Given the description of an element on the screen output the (x, y) to click on. 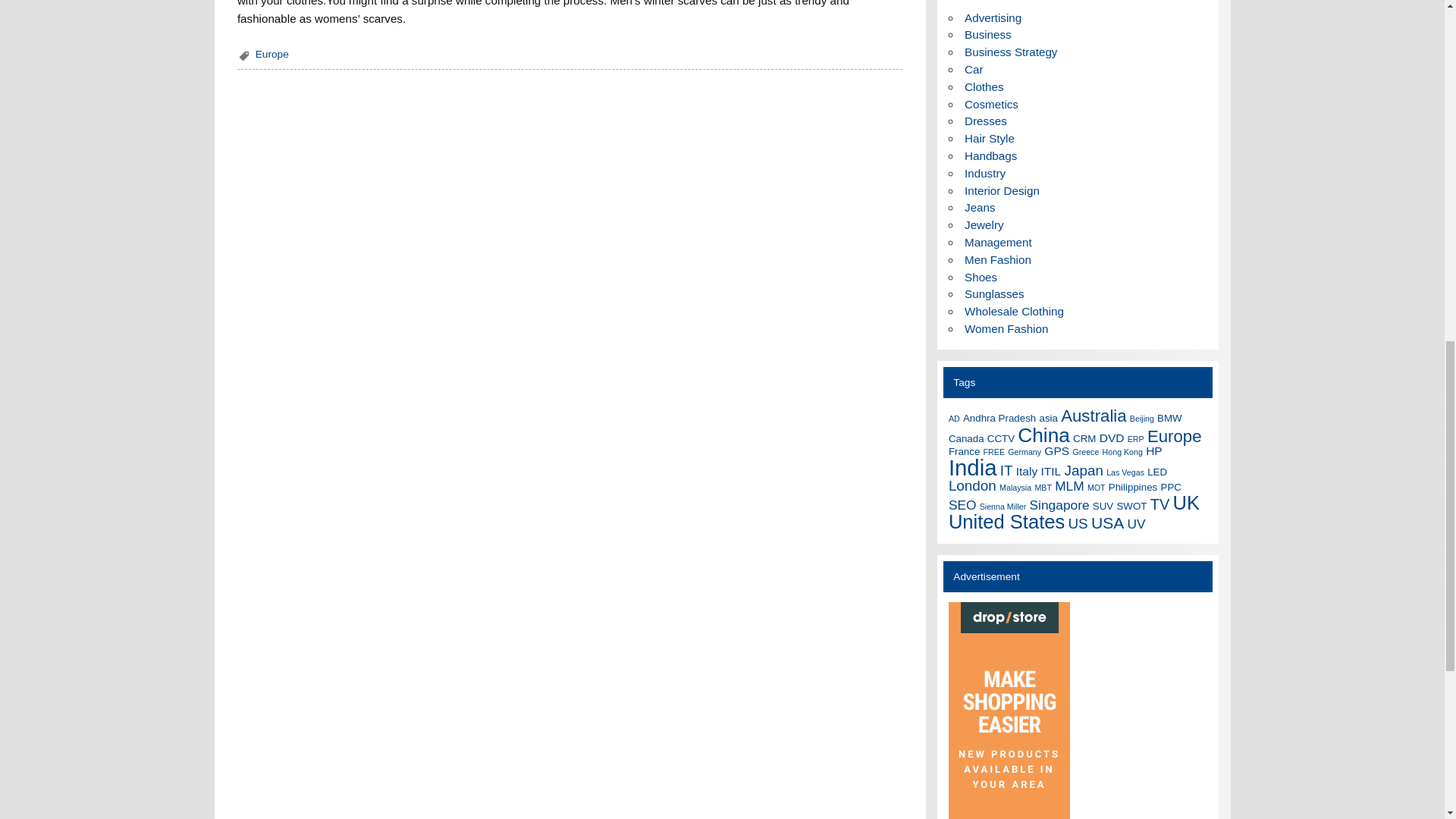
Jewelry (983, 224)
Advertising (992, 17)
Clothes (983, 86)
Business Strategy (1010, 51)
Dresses (985, 120)
Europe (272, 53)
Handbags (989, 155)
Jeans (979, 206)
Hair Style (988, 137)
Industry (984, 173)
